Given the description of an element on the screen output the (x, y) to click on. 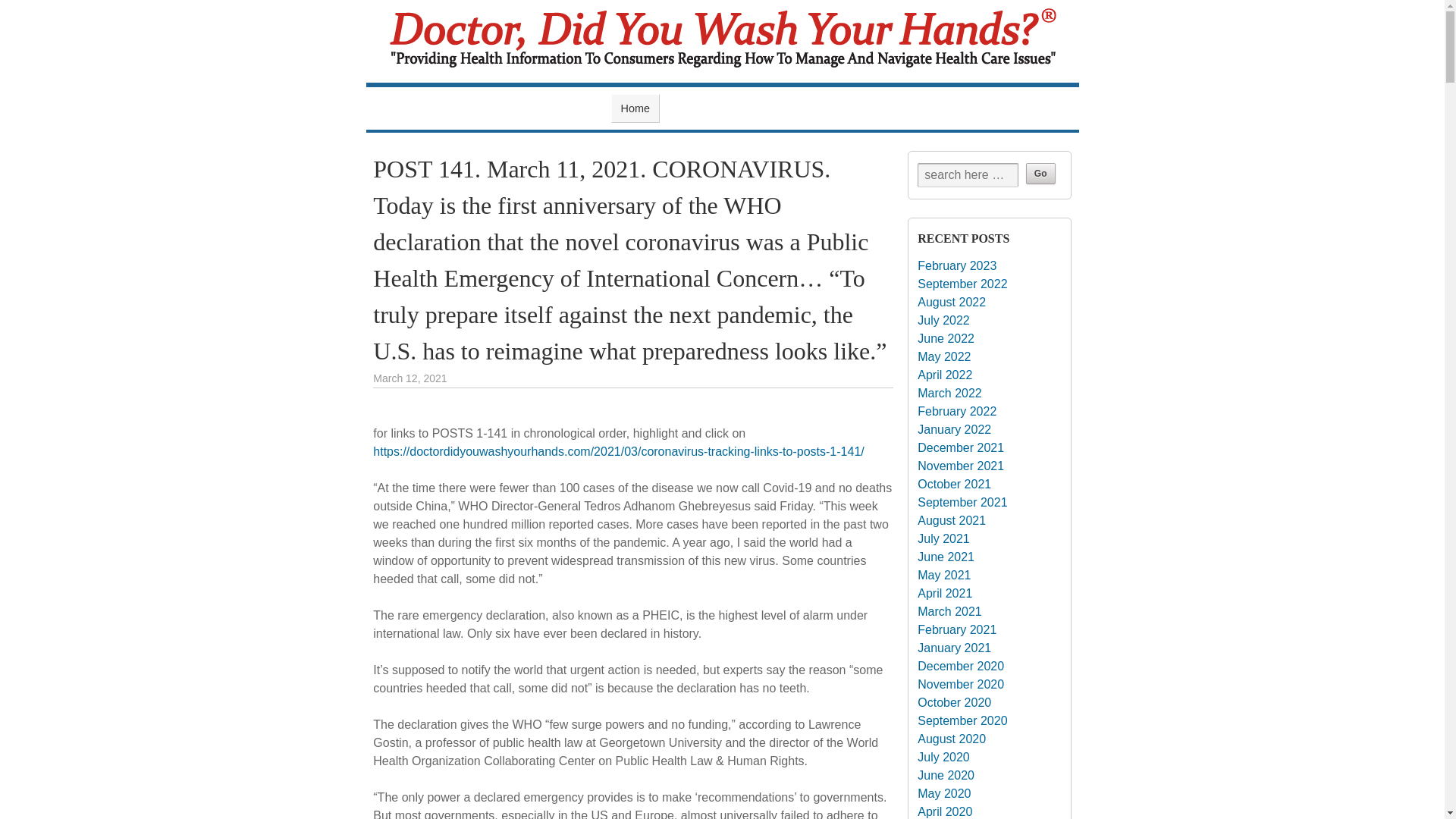
July 2021 (943, 538)
May 2021 (944, 574)
Go (1040, 173)
March 2022 (949, 392)
January 2021 (954, 647)
February 2021 (956, 629)
Go (1040, 173)
November 2021 (960, 465)
October 2021 (954, 483)
September 2022 (962, 283)
